Given the description of an element on the screen output the (x, y) to click on. 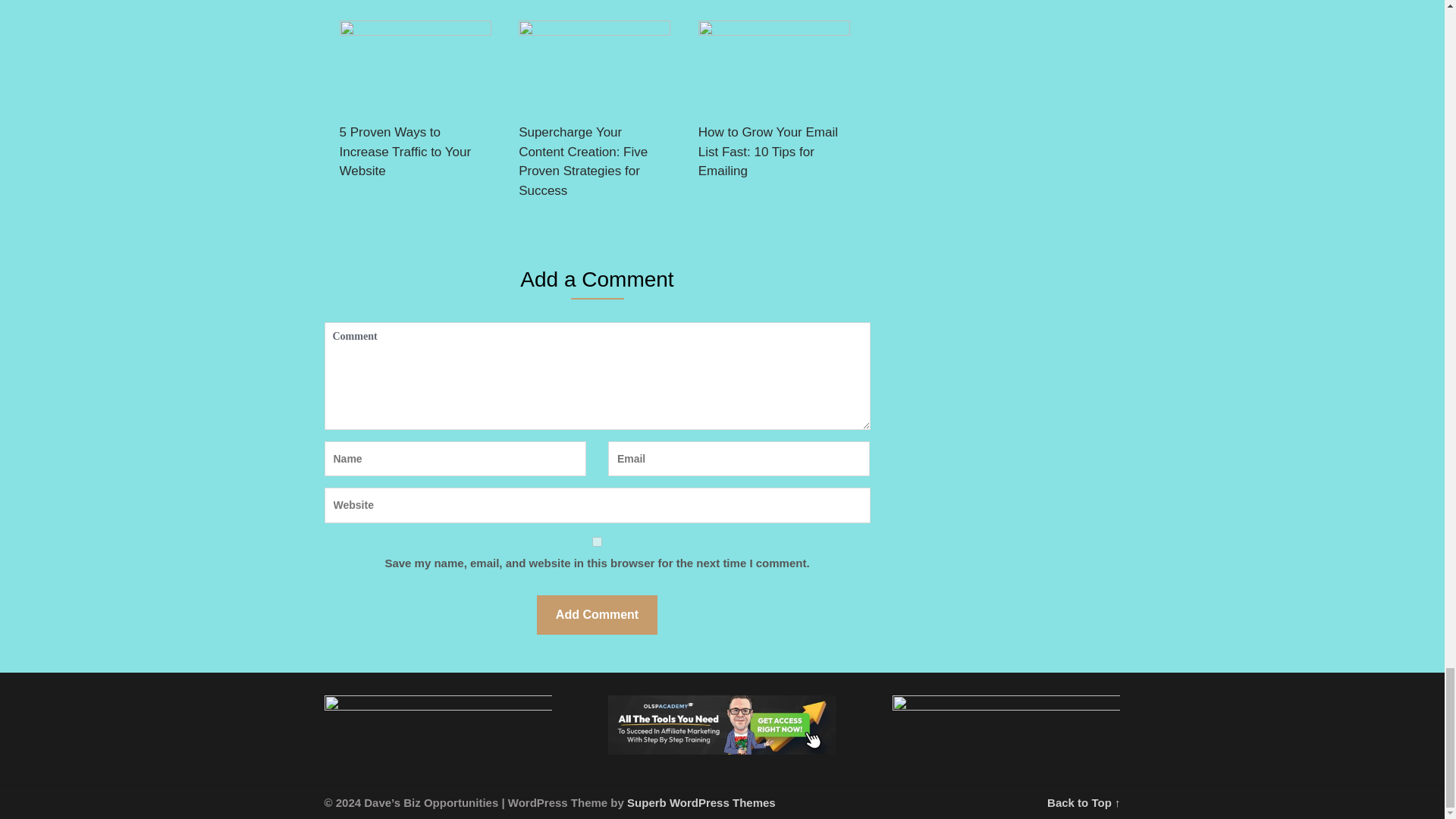
yes (597, 542)
5 Proven Ways to Increase Traffic to Your Website (415, 104)
Add Comment (597, 615)
How to Grow Your Email List Fast: 10 Tips for Emailing (774, 104)
5 Proven Ways to Increase Traffic to Your Website (415, 104)
